Given the description of an element on the screen output the (x, y) to click on. 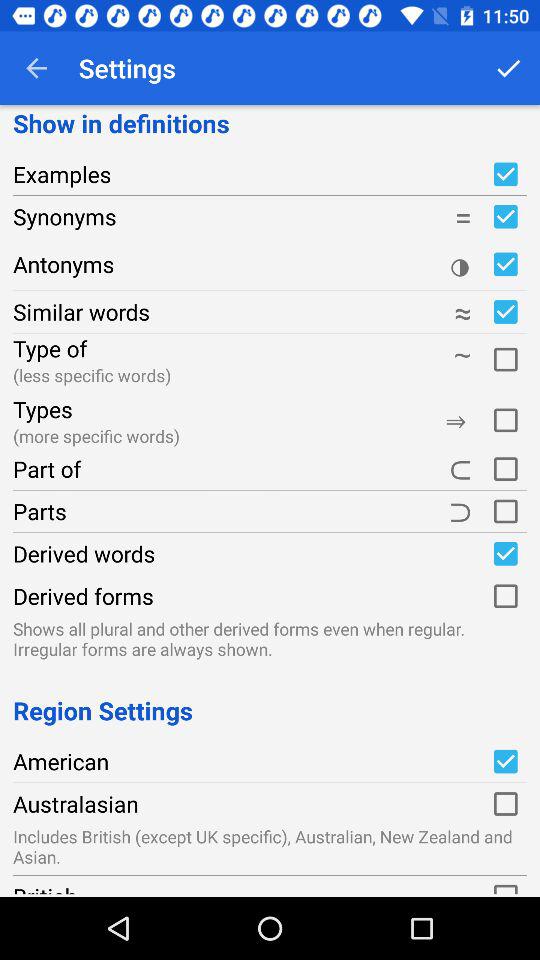
toggle examples (505, 174)
